Given the description of an element on the screen output the (x, y) to click on. 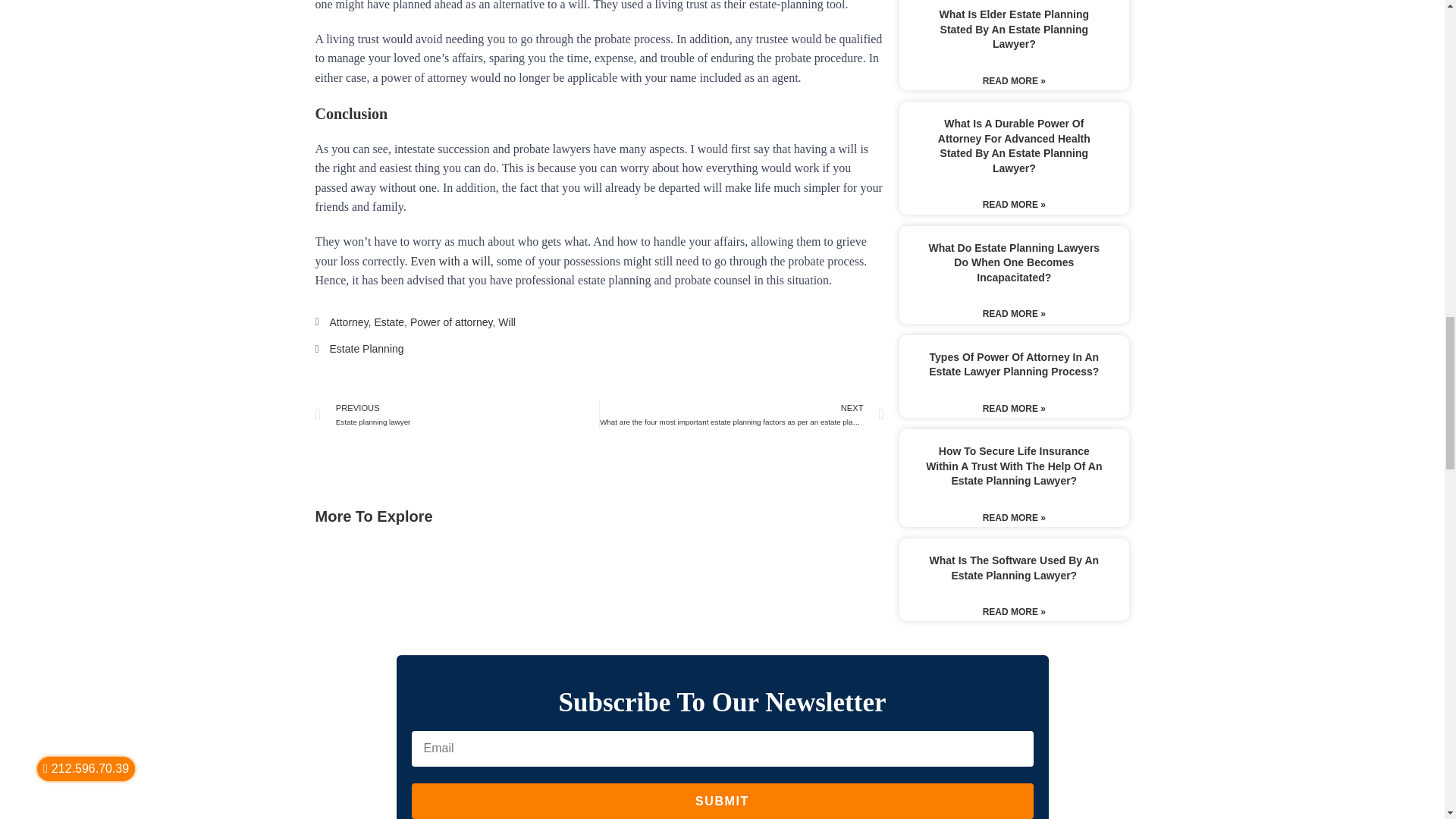
Will (506, 322)
Power of attorney (451, 322)
Attorney (348, 322)
Even with a will (450, 260)
Estate Planning (366, 348)
Estate (457, 414)
